Given the description of an element on the screen output the (x, y) to click on. 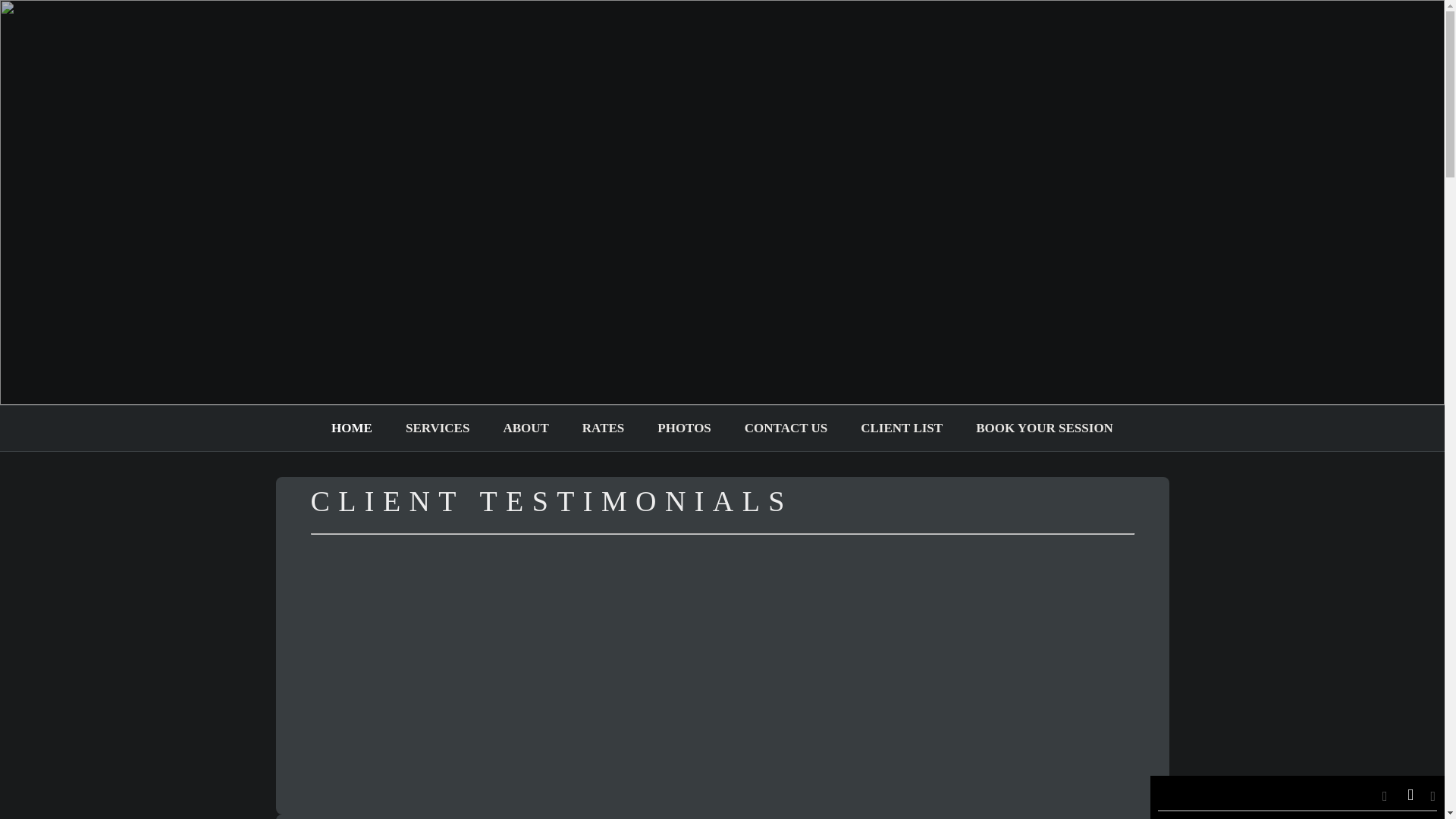
BOOK YOUR SESSION (1043, 428)
CLIENT LIST (901, 428)
SERVICES (437, 428)
RATES (603, 428)
CONTACT US (786, 428)
ABOUT (524, 428)
HOME (351, 428)
PHOTOS (684, 428)
